Given the description of an element on the screen output the (x, y) to click on. 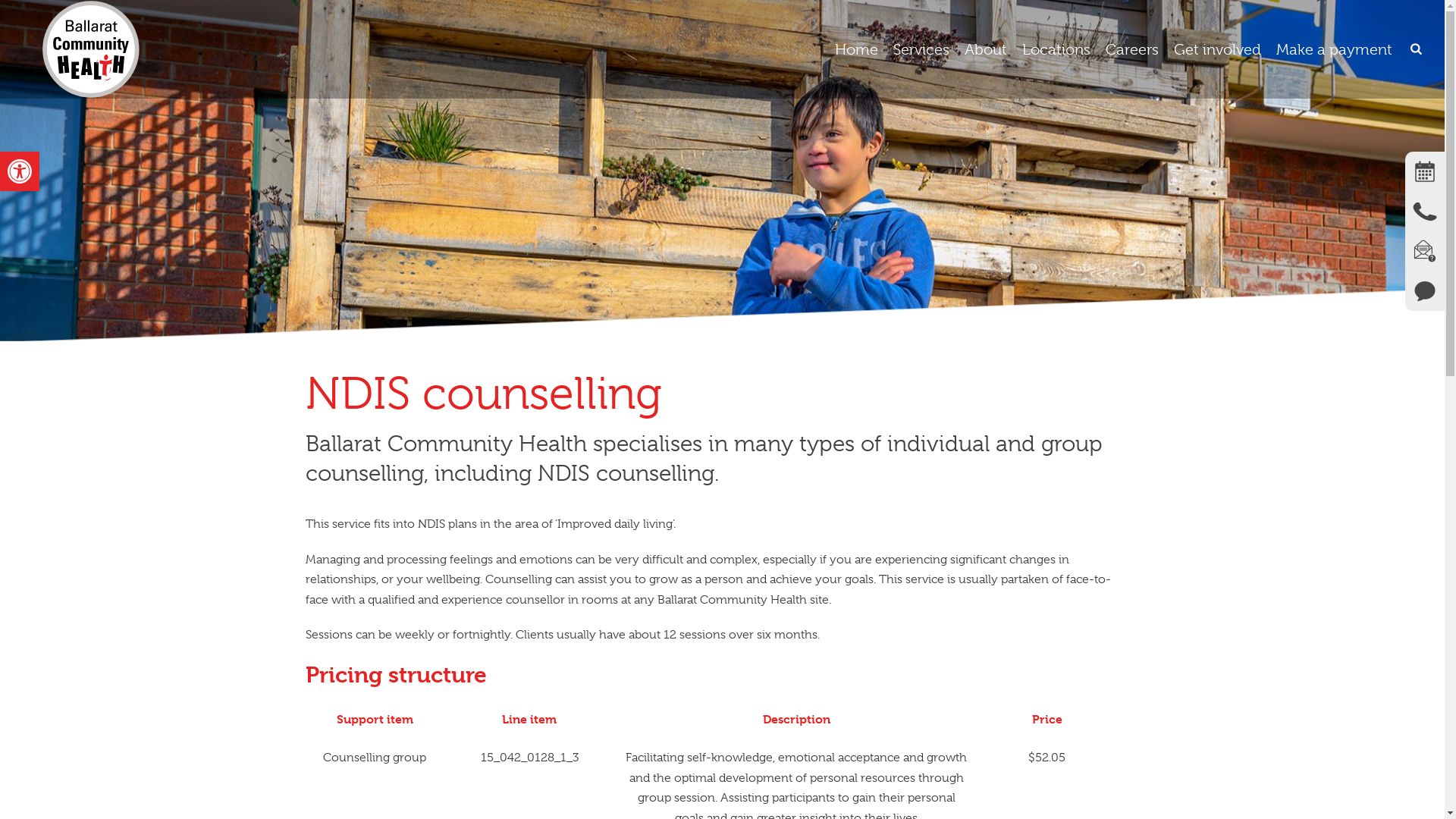
Services Element type: text (921, 49)
Get involved Element type: text (1217, 49)
Careers Element type: text (1132, 49)
Locations Element type: text (1056, 49)
Open toolbar
Vision options Element type: text (19, 171)
Home Element type: text (856, 49)
Make a payment Element type: text (1333, 49)
About Element type: text (985, 49)
